Given the description of an element on the screen output the (x, y) to click on. 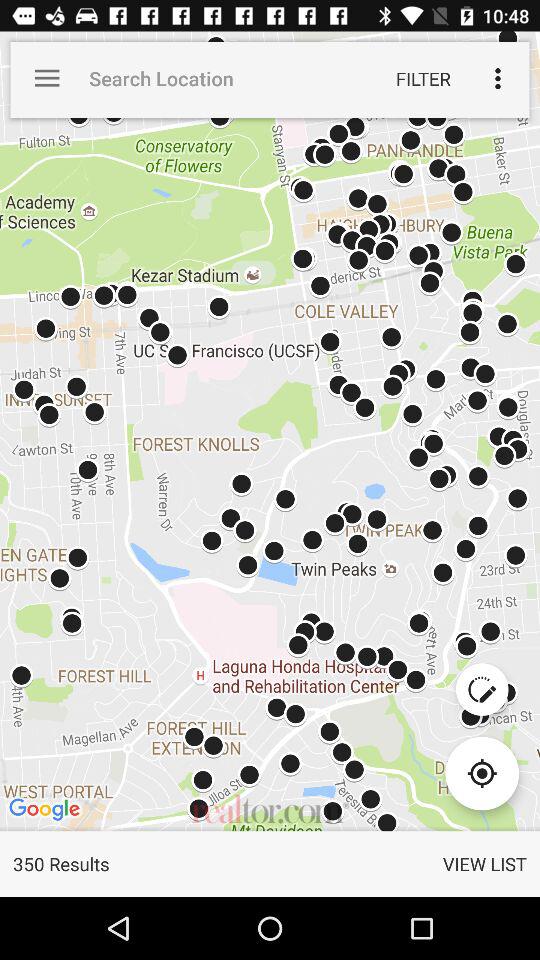
tap the filter app (423, 78)
